Given the description of an element on the screen output the (x, y) to click on. 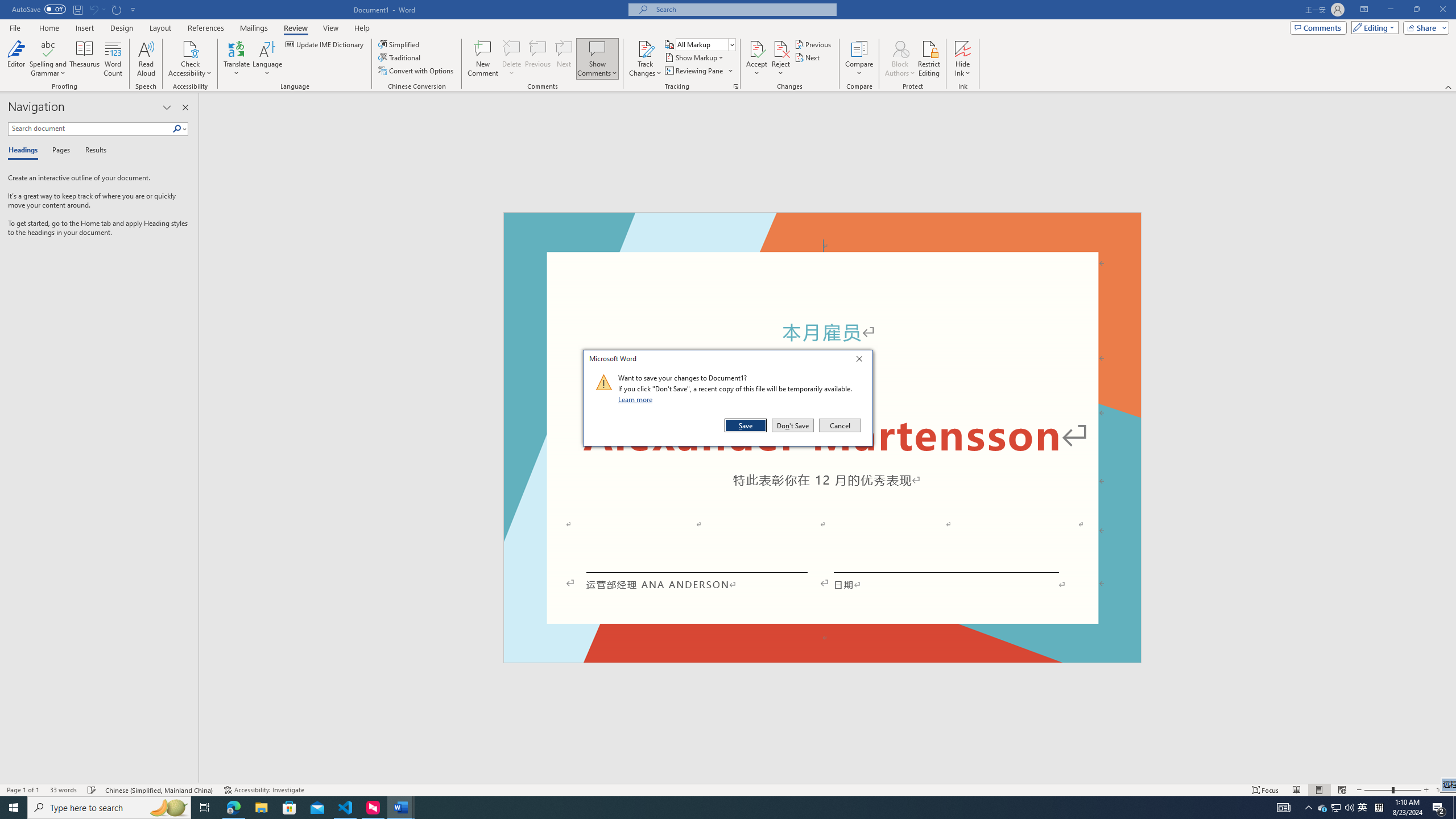
Web Layout (1342, 790)
Task Pane Options (167, 107)
Class: NetUIImage (603, 382)
Insert (83, 28)
File Explorer (261, 807)
Show desktop (1454, 807)
Display for Review (705, 44)
Ribbon Display Options (1364, 9)
Track Changes (1335, 807)
New Comment (644, 48)
Spelling and Grammar (482, 58)
